Given the description of an element on the screen output the (x, y) to click on. 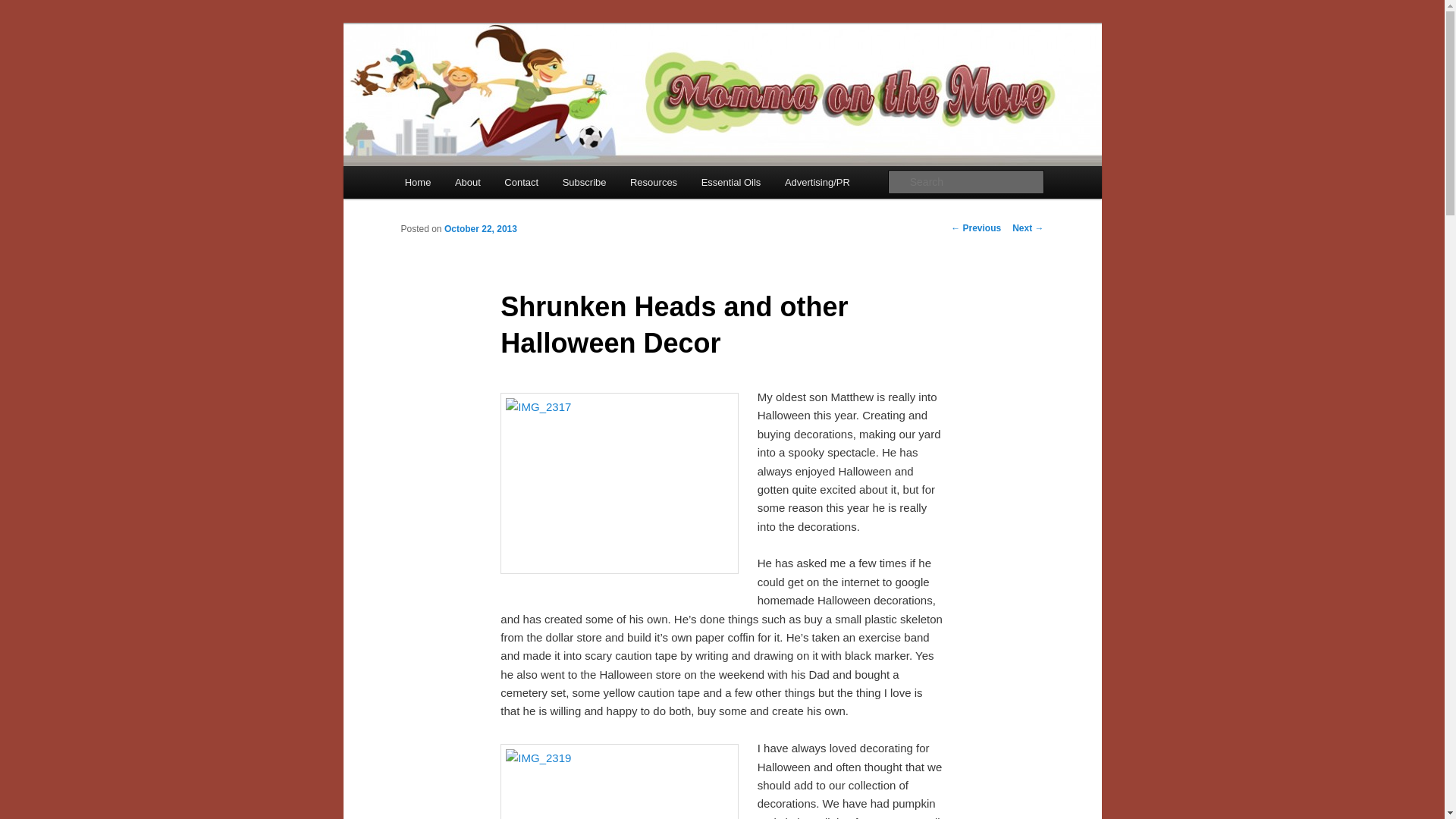
October 22, 2013 (480, 228)
About (467, 182)
3:30 am (480, 228)
Search (24, 8)
Resources (652, 182)
Momma On The Move (517, 78)
Essential Oils (730, 182)
Subscribe (583, 182)
Home (417, 182)
